Given the description of an element on the screen output the (x, y) to click on. 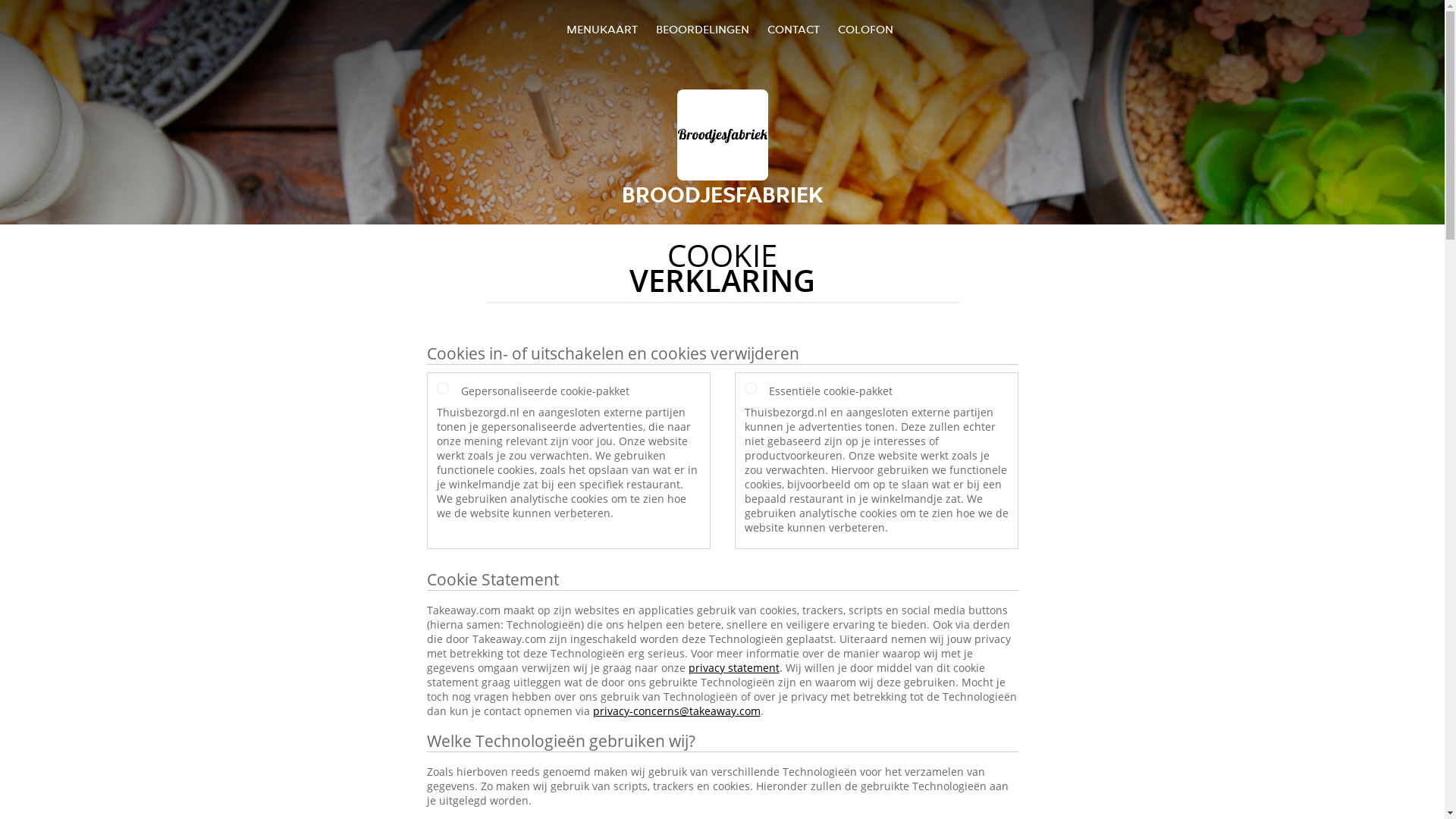
CONTACT Element type: text (793, 29)
BEOORDELINGEN Element type: text (702, 29)
MENUKAART Element type: text (601, 29)
COLOFON Element type: text (865, 29)
privacy statement Element type: text (733, 667)
privacy-concerns@takeaway.com Element type: text (676, 710)
